Given the description of an element on the screen output the (x, y) to click on. 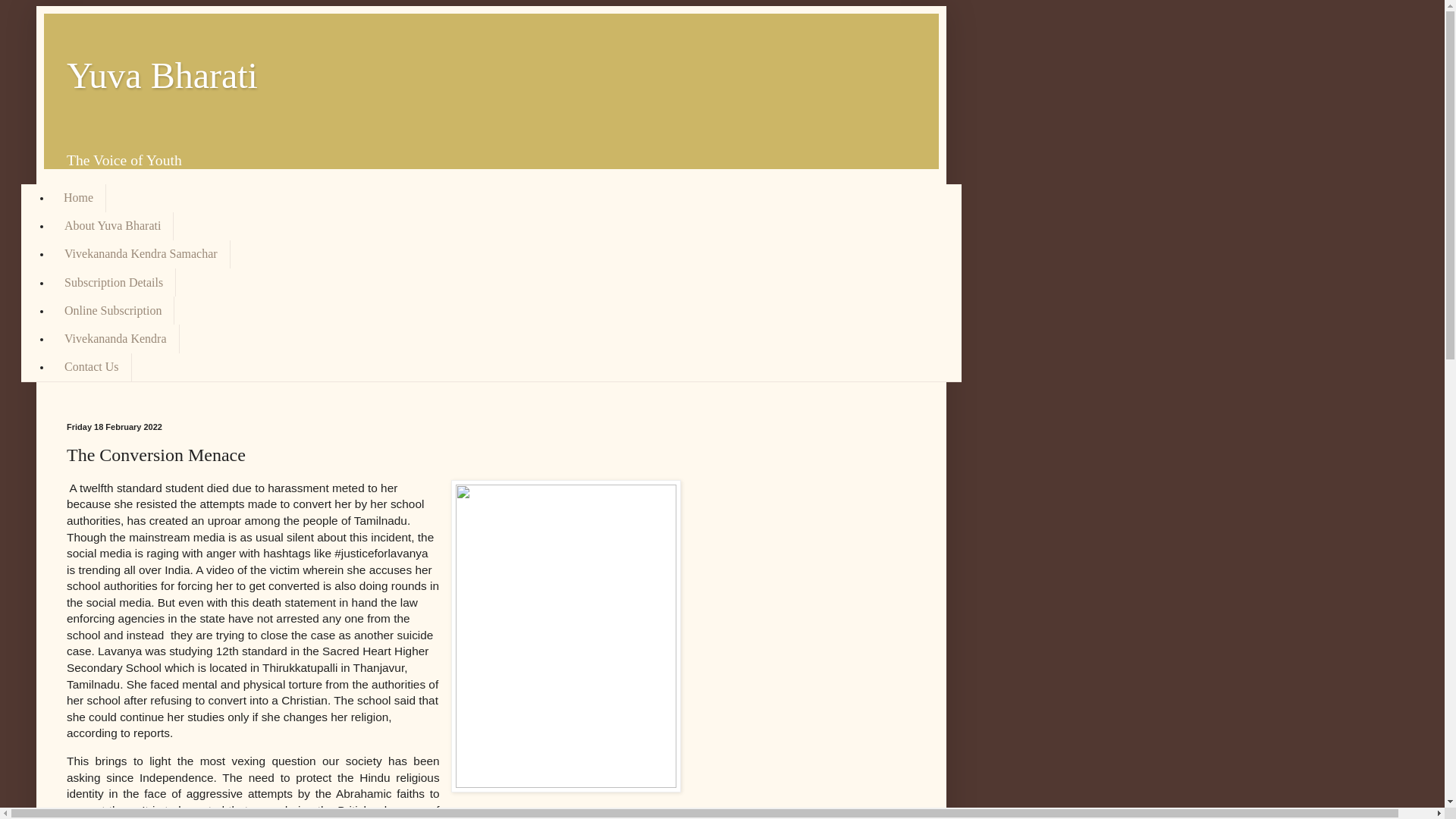
Contact Us (91, 366)
Vivekananda Kendra Samachar (140, 254)
Vivekananda Kendra (114, 338)
Online Subscription (112, 310)
Subscription Details (113, 282)
Yuva Bharati (161, 75)
About Yuva Bharati (111, 226)
Home (78, 197)
